Given the description of an element on the screen output the (x, y) to click on. 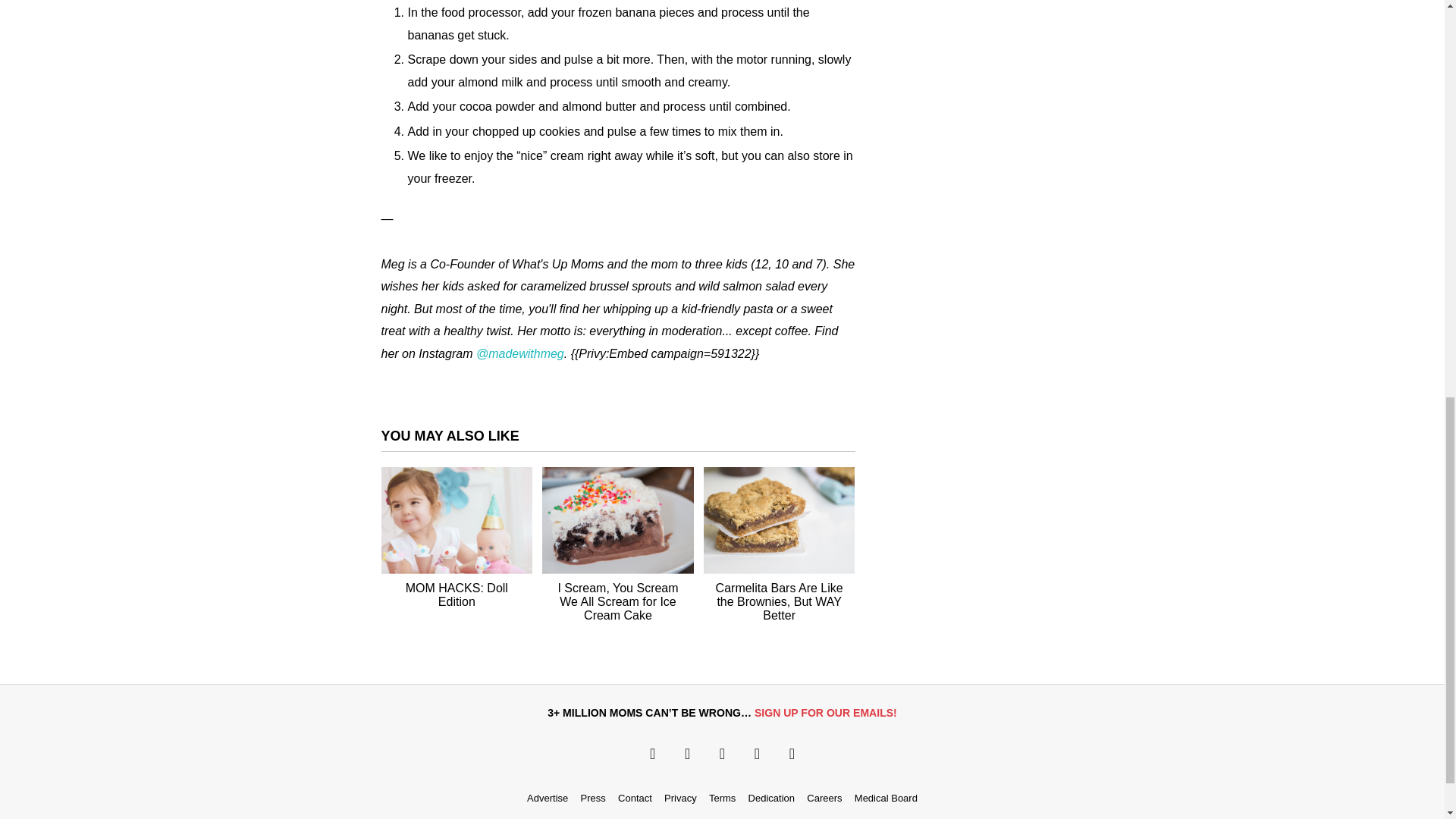
I Scream, You Scream We All Scream for Ice Cream Cake (617, 602)
Carmelita Bars Are Like the Brownies, But WAY Better (779, 602)
MOM HACKS: Doll Edition (456, 595)
